Given the description of an element on the screen output the (x, y) to click on. 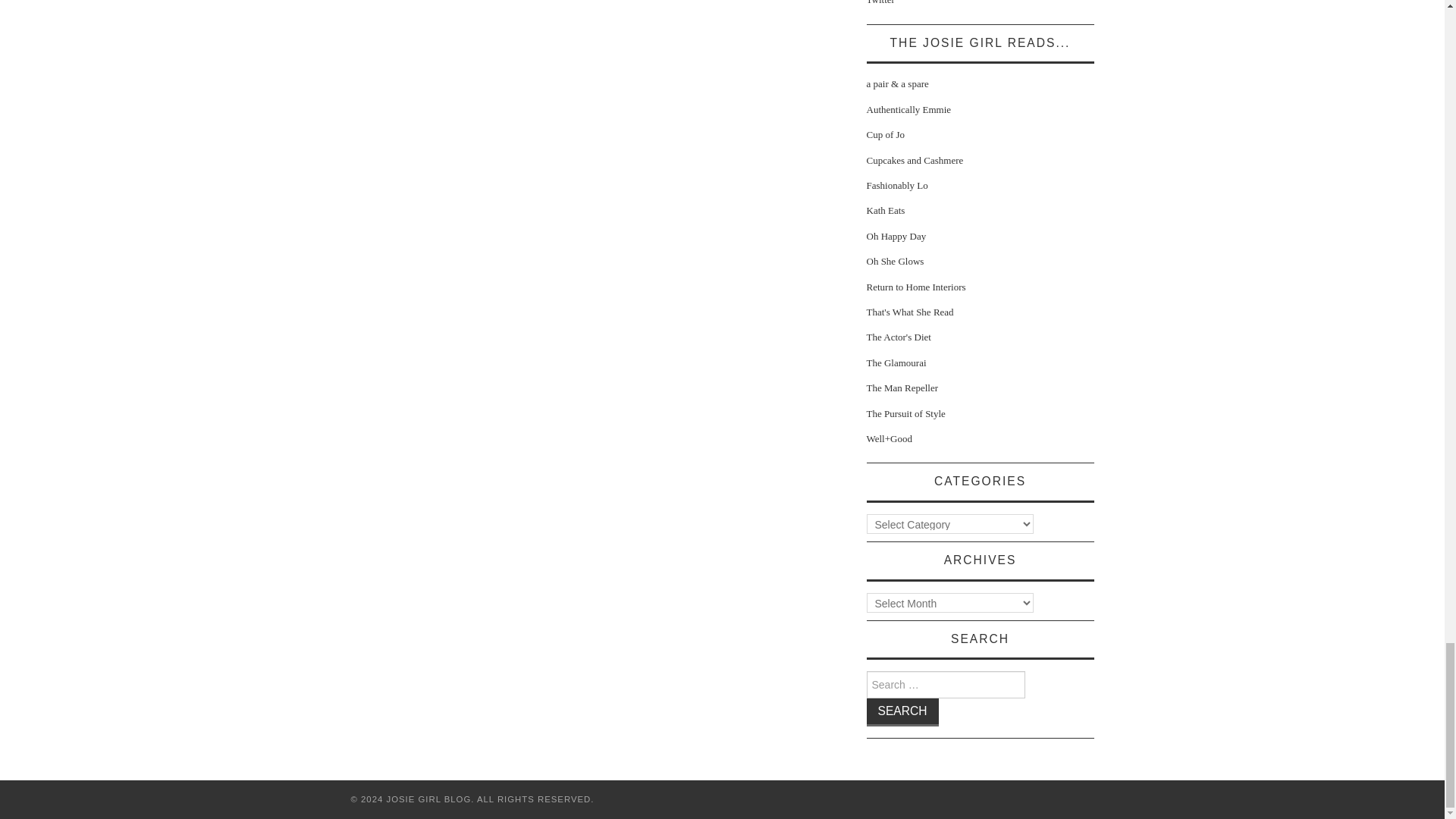
Search (901, 712)
Search (901, 712)
